Given the description of an element on the screen output the (x, y) to click on. 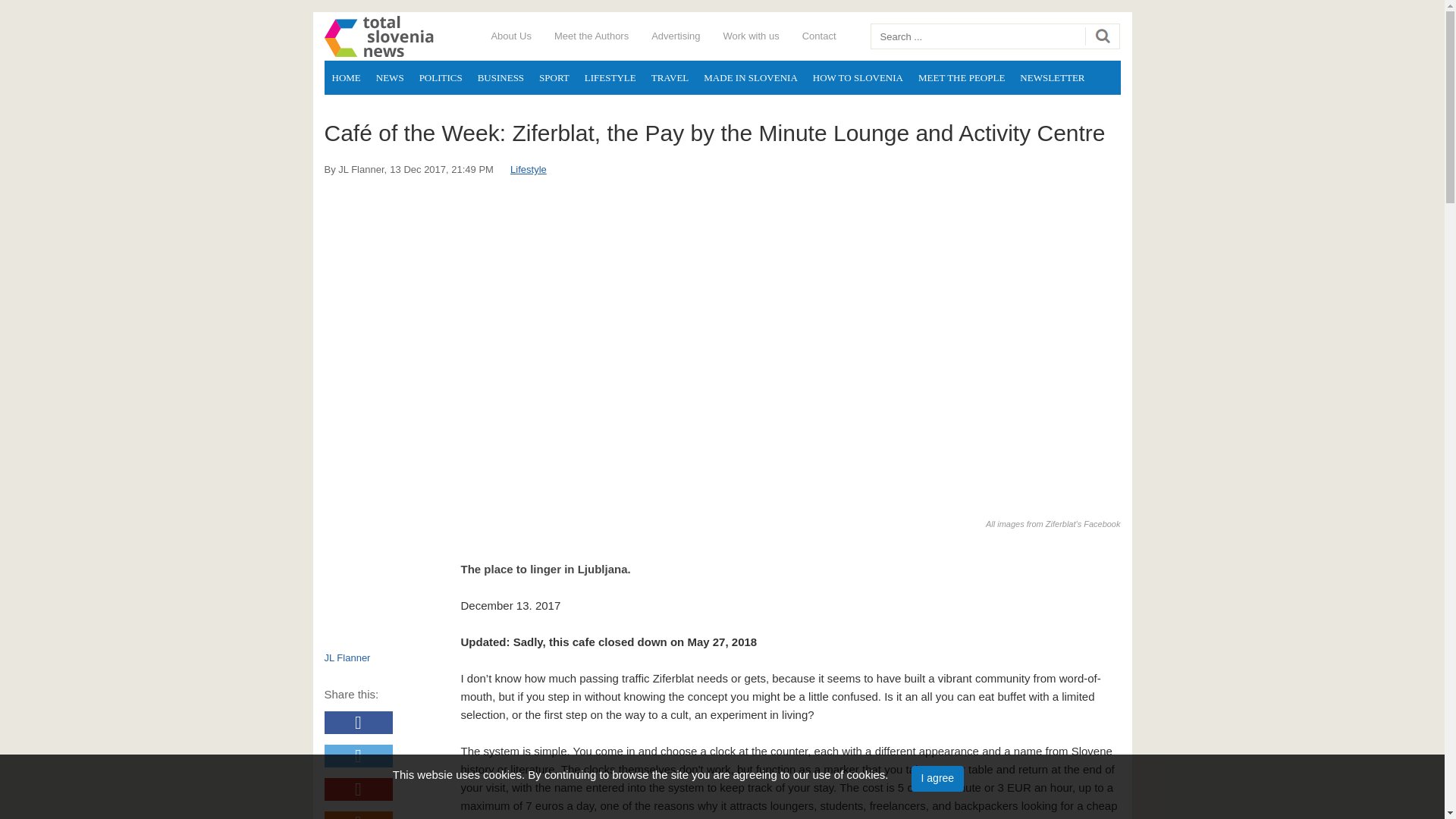
Share (358, 722)
Share (358, 815)
Share (358, 789)
Advertising (675, 35)
JL Flanner (360, 169)
Contact (818, 35)
POLITICS (441, 77)
SPORT (553, 77)
NEWS (390, 77)
NEWSLETTER (1051, 77)
Share (358, 755)
Meet the Authors (591, 35)
MEET THE PEOPLE (961, 77)
TRAVEL (670, 77)
